Given the description of an element on the screen output the (x, y) to click on. 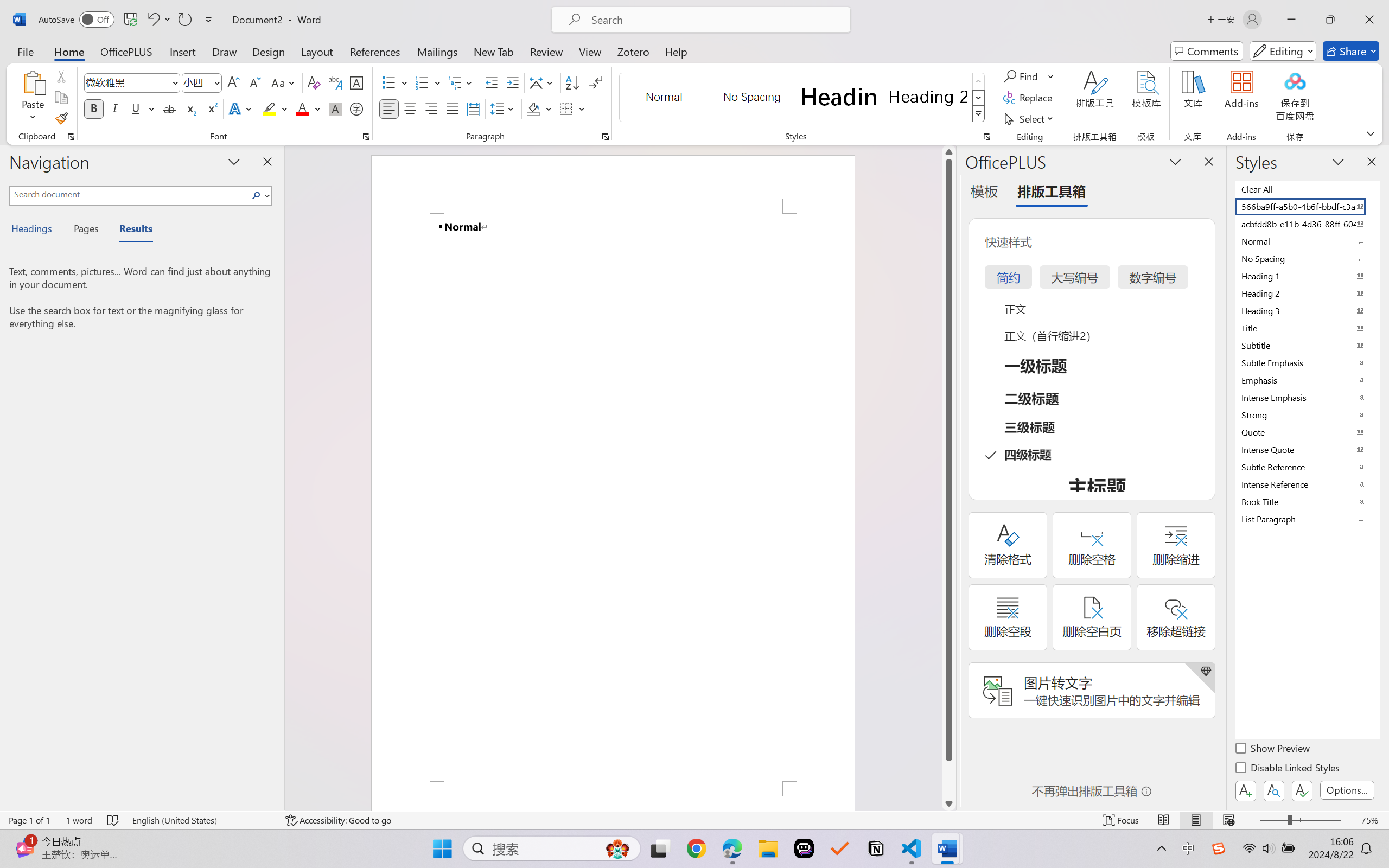
Align Right (431, 108)
Minimize (1291, 19)
Bullets (395, 82)
OfficePLUS (126, 51)
Paste (33, 81)
Book Title (1306, 501)
AutomationID: QuickStylesGallery (802, 97)
Task Pane Options (1175, 161)
Row Down (978, 97)
Intense Quote (1306, 449)
Italic (115, 108)
Home (69, 51)
